Given the description of an element on the screen output the (x, y) to click on. 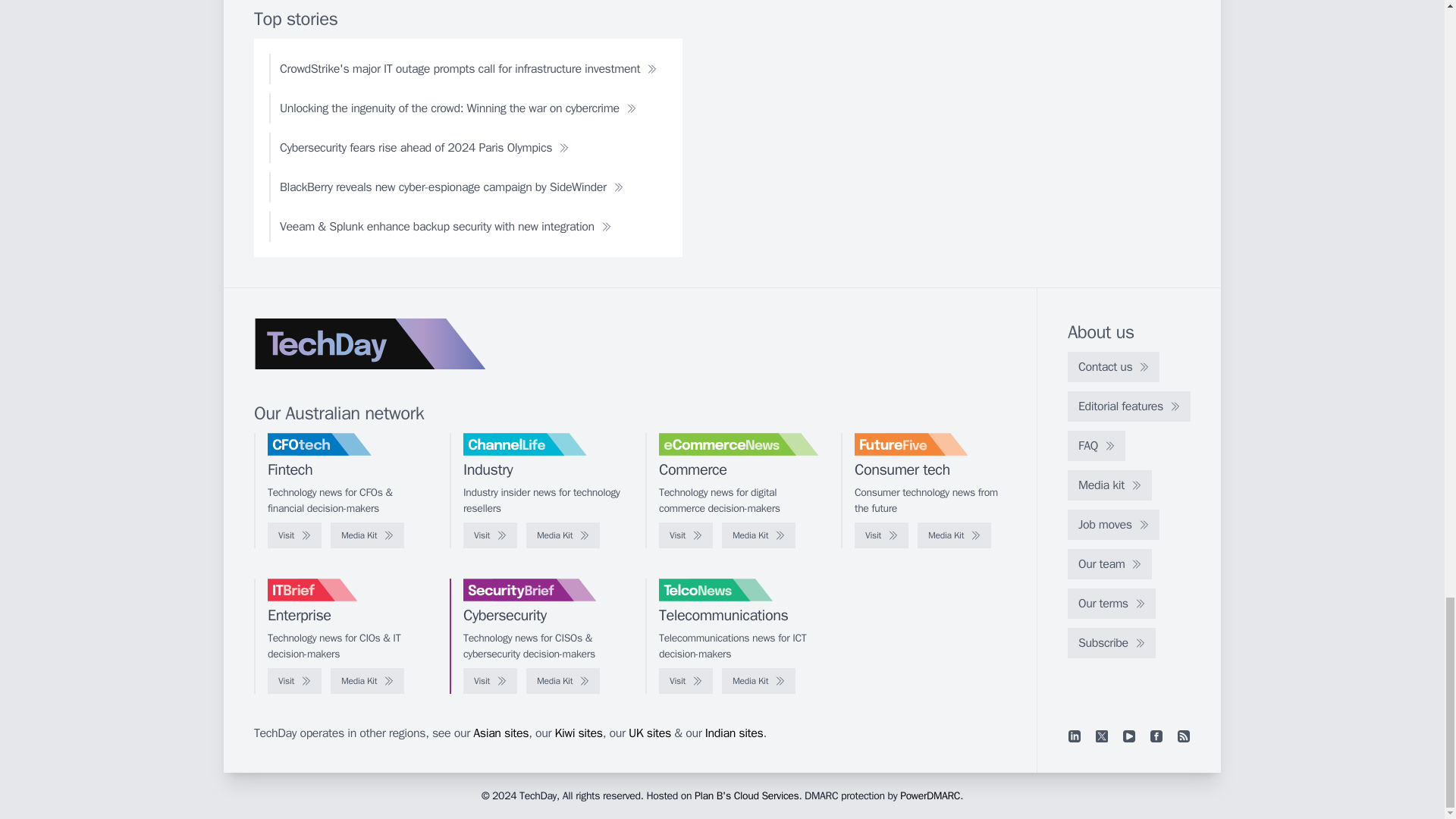
Media Kit (562, 534)
Cybersecurity fears rise ahead of 2024 Paris Olympics (424, 147)
Media Kit (758, 534)
Visit (489, 534)
Media Kit (367, 534)
Visit (294, 534)
Visit (686, 534)
